Given the description of an element on the screen output the (x, y) to click on. 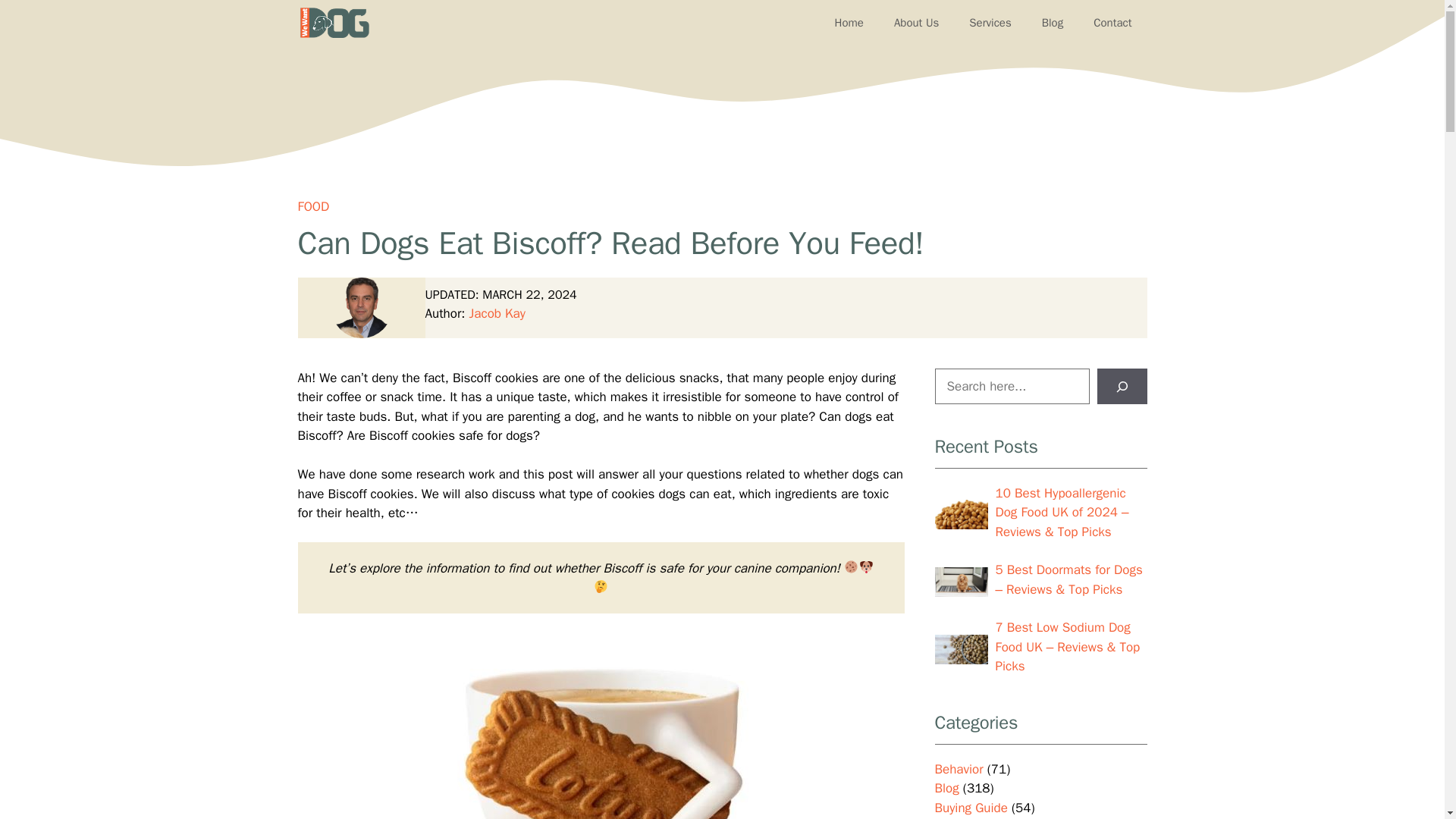
Blog (1052, 22)
About Us (916, 22)
WeWantDogs (334, 22)
Home (849, 22)
Contact (1112, 22)
Jacob Kay (496, 313)
FOOD (313, 206)
Can Dogs Eat Biscoff (600, 725)
Services (989, 22)
